Given the description of an element on the screen output the (x, y) to click on. 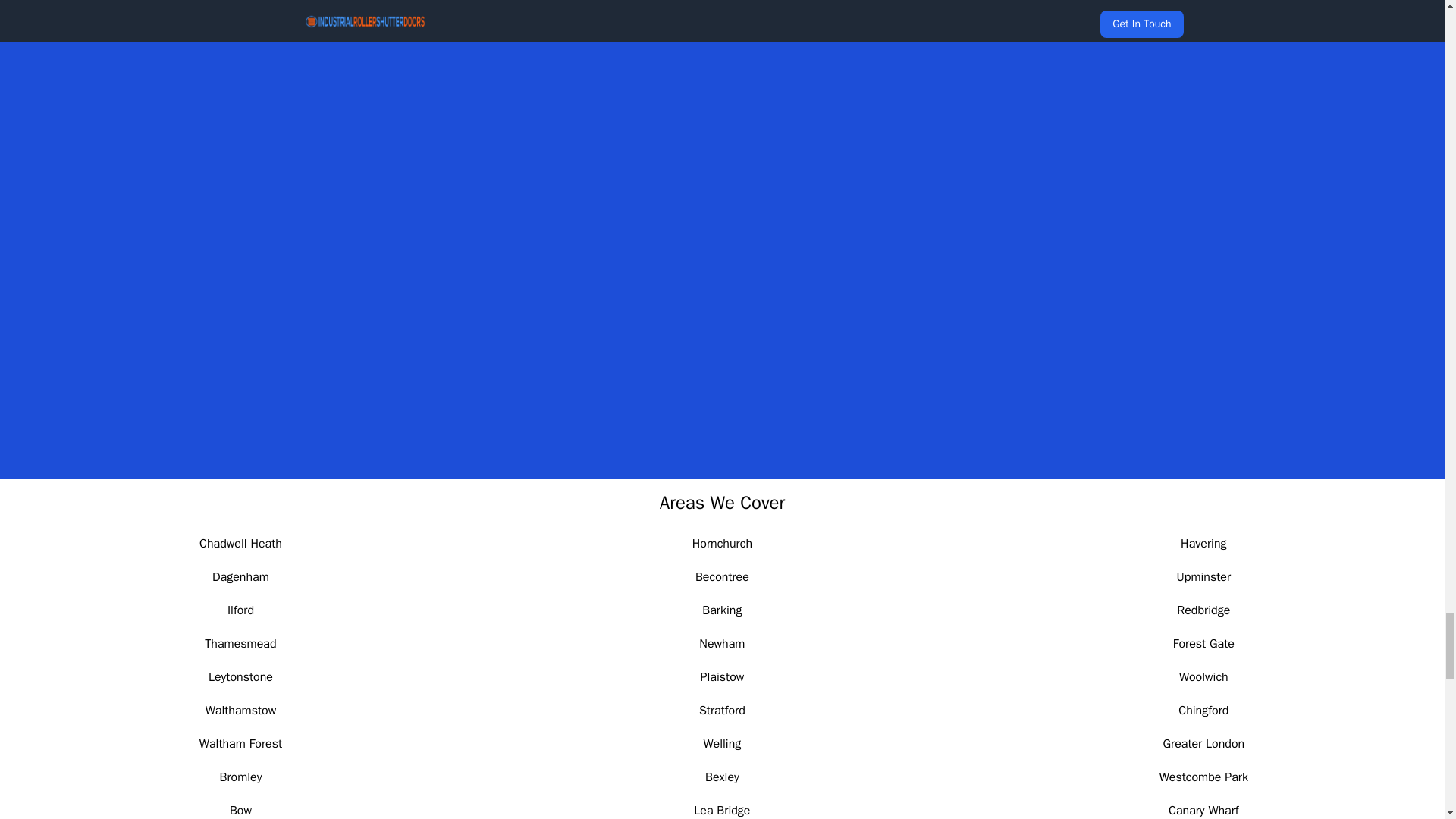
Forest Gate (1203, 643)
Leytonstone (240, 676)
Chingford (1202, 710)
Plaistow (722, 676)
Ilford (240, 610)
Westcombe Park (1202, 776)
Bromley (240, 776)
Barking (721, 610)
Bexley (721, 776)
Chadwell Heath (240, 543)
Waltham Forest (240, 743)
Woolwich (1203, 676)
Greater London (1202, 743)
Hornchurch (722, 543)
Havering (1202, 543)
